Given the description of an element on the screen output the (x, y) to click on. 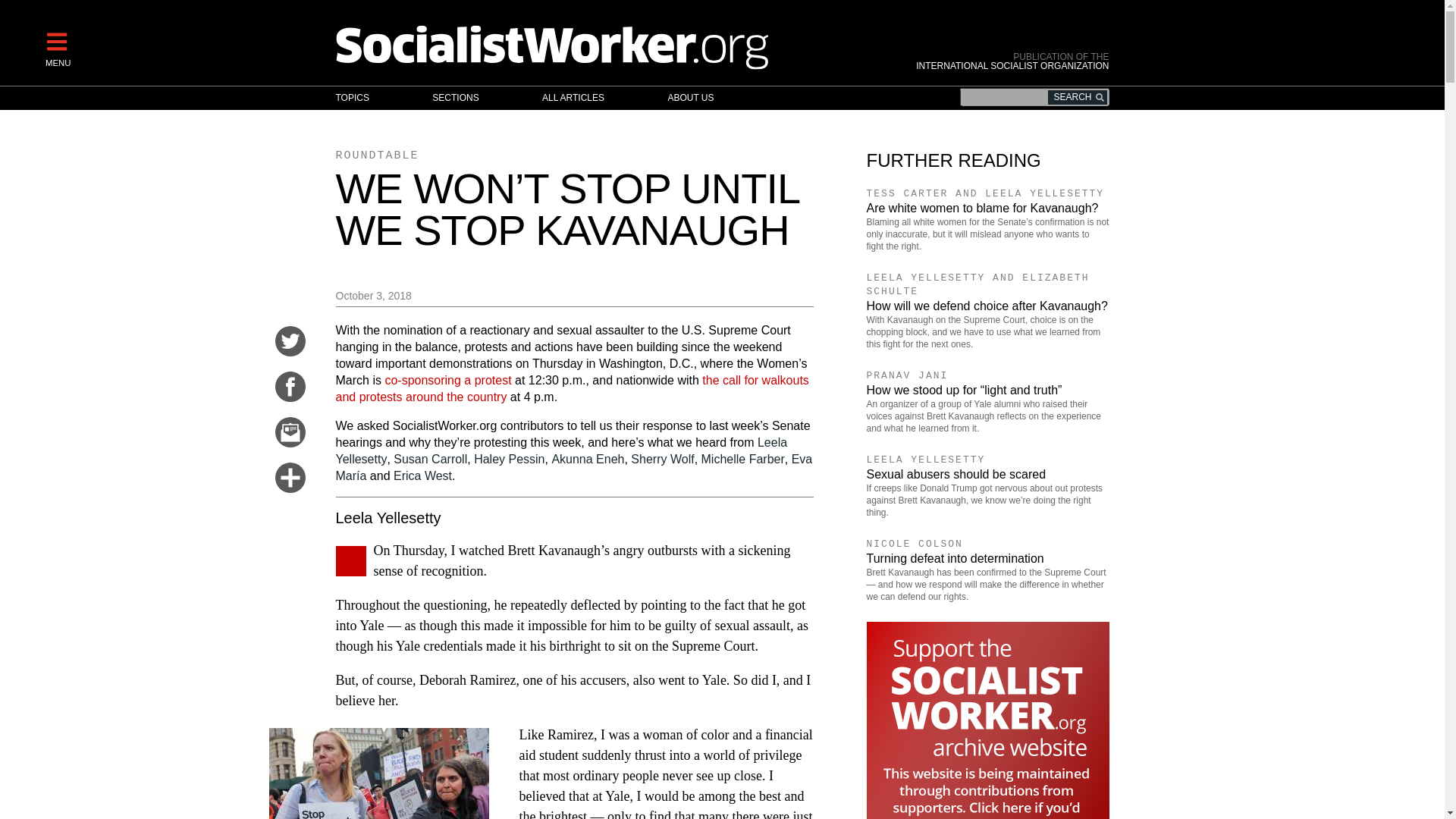
Home (616, 46)
Enter the terms you wish to search for. (1034, 96)
TOPICS (366, 97)
Share on Twitter (289, 351)
Email this story (289, 442)
Click for more options (289, 488)
Share on Facebook (289, 396)
Search (1077, 97)
